Given the description of an element on the screen output the (x, y) to click on. 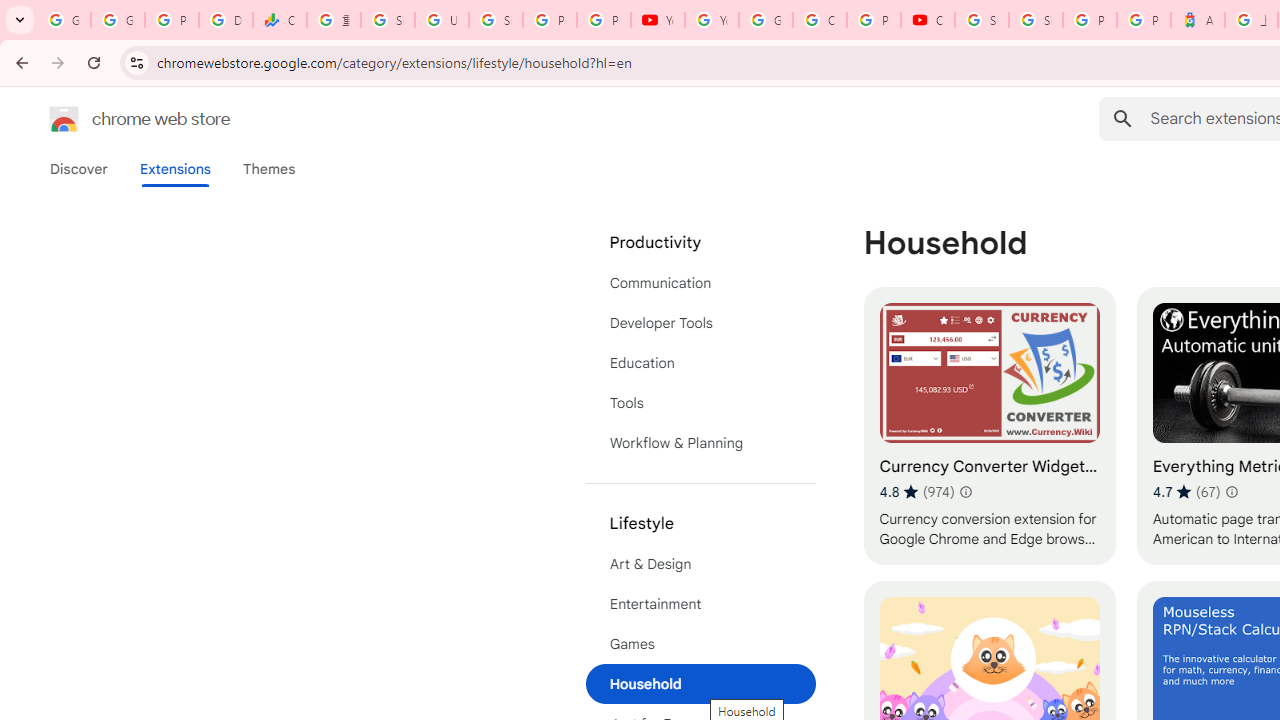
Education (700, 362)
Chrome Web Store logo (63, 118)
YouTube (657, 20)
Developer Tools (700, 322)
Average rating 4.7 out of 5 stars. 67 ratings. (1186, 491)
Currency Converter Widget - Exchange Rates (989, 426)
Atour Hotel - Google hotels (1197, 20)
Sign in - Google Accounts (387, 20)
